Given the description of an element on the screen output the (x, y) to click on. 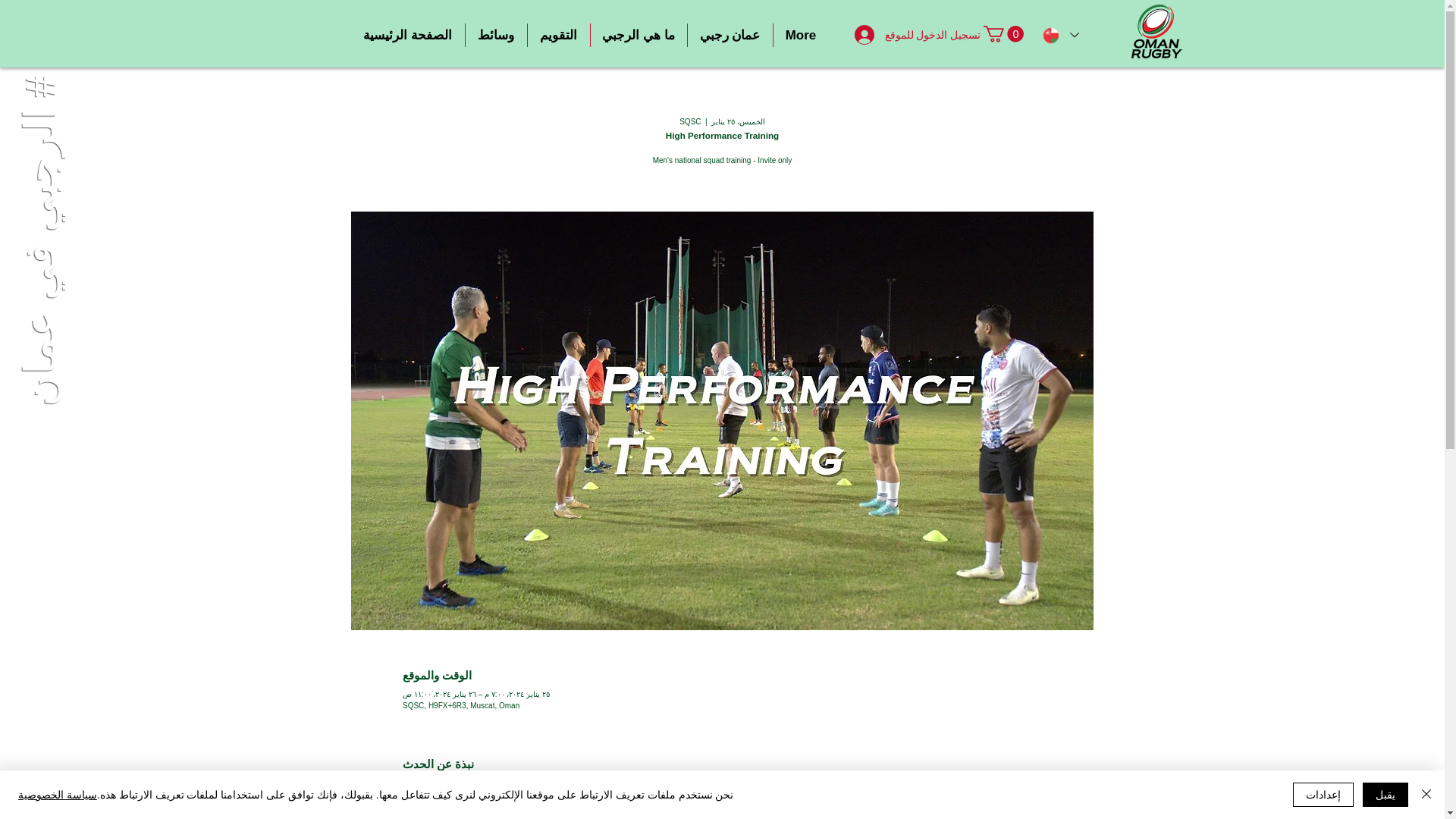
0 (1002, 33)
0 (1002, 33)
